Given the description of an element on the screen output the (x, y) to click on. 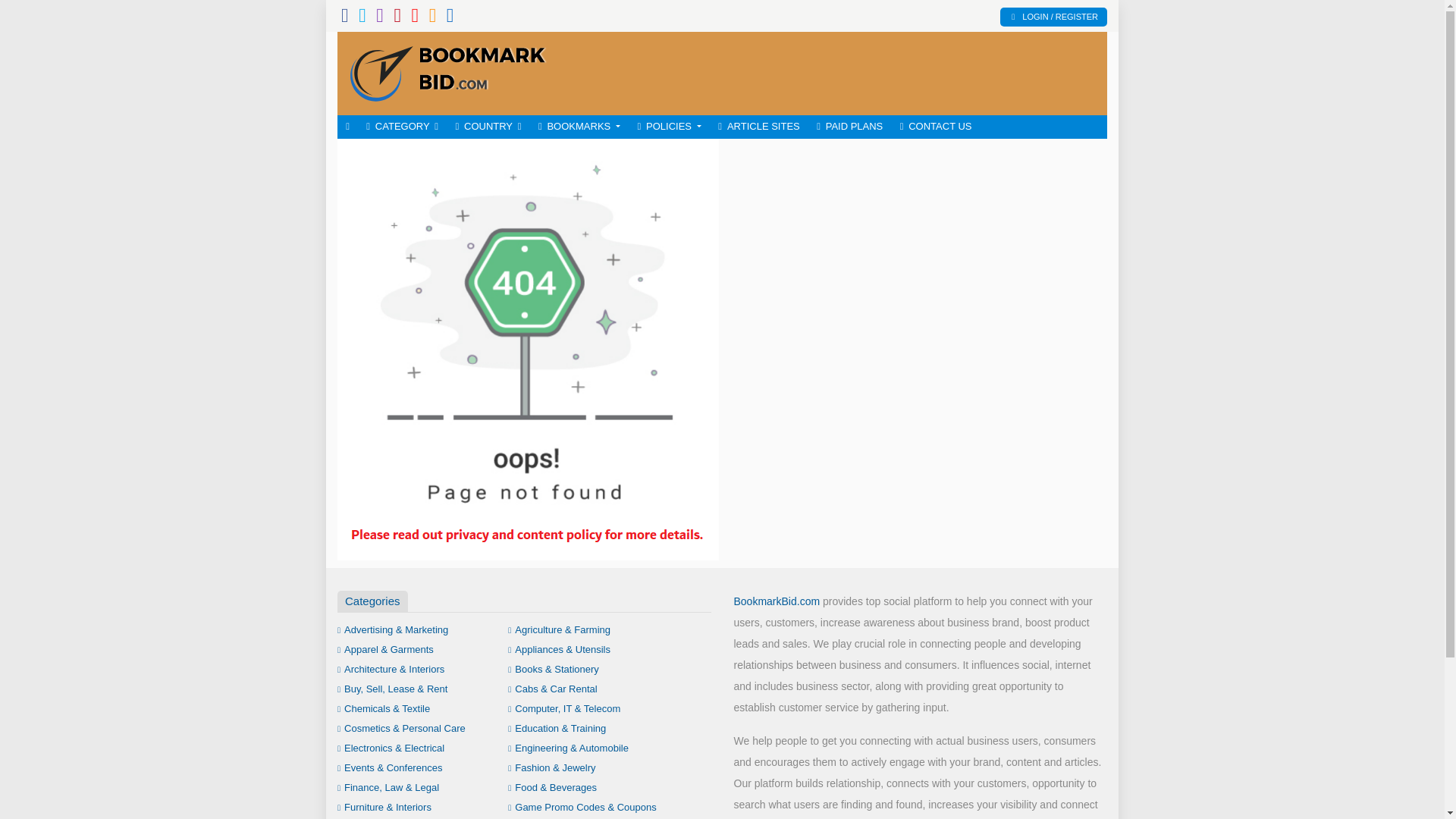
Great Platform to Store, Manage and Share Bookmarks (447, 71)
CATEGORY (402, 126)
COUNTRY (487, 126)
